Given the description of an element on the screen output the (x, y) to click on. 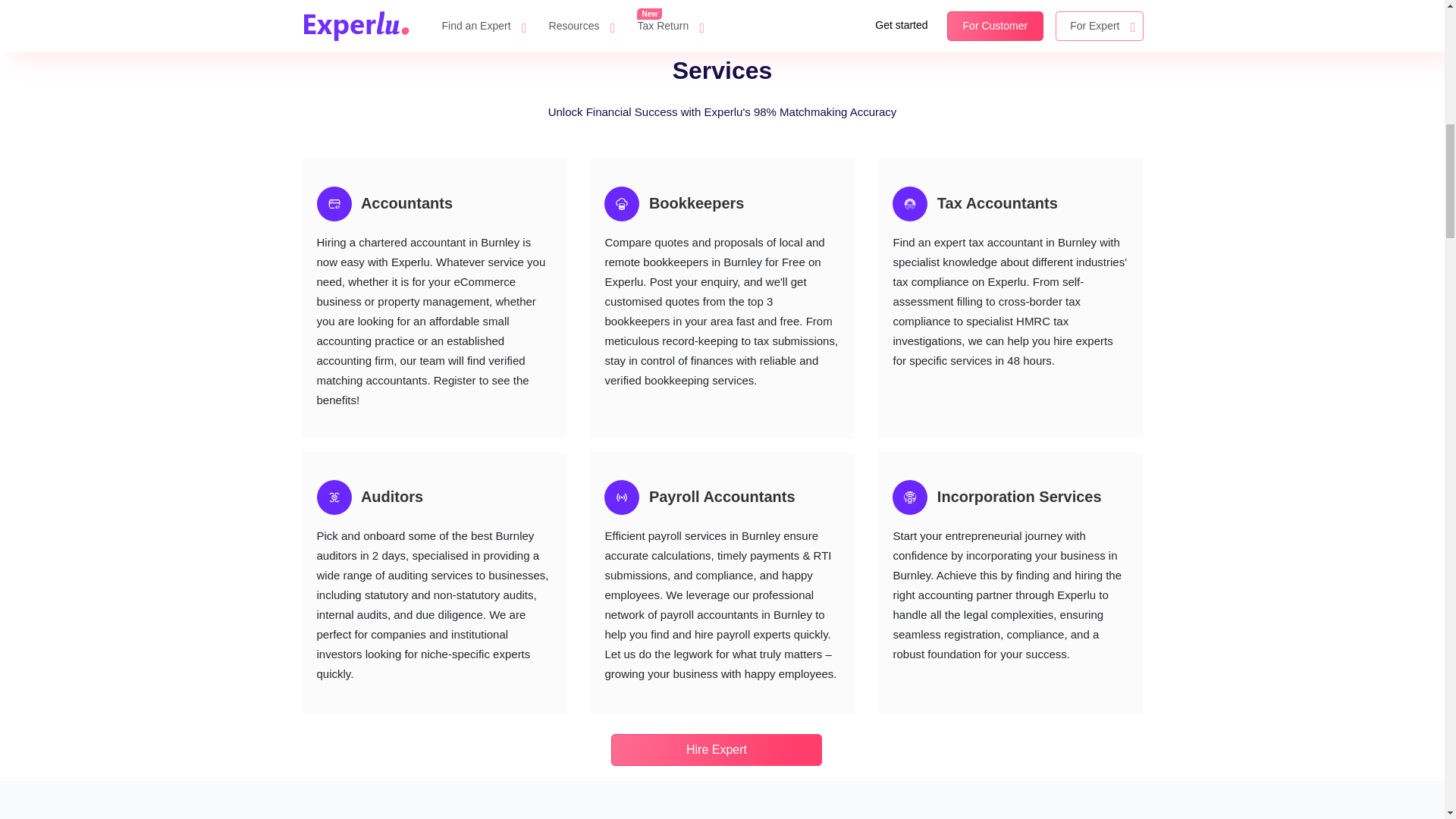
Hire Expert (716, 749)
Hire Expert (716, 14)
